Given the description of an element on the screen output the (x, y) to click on. 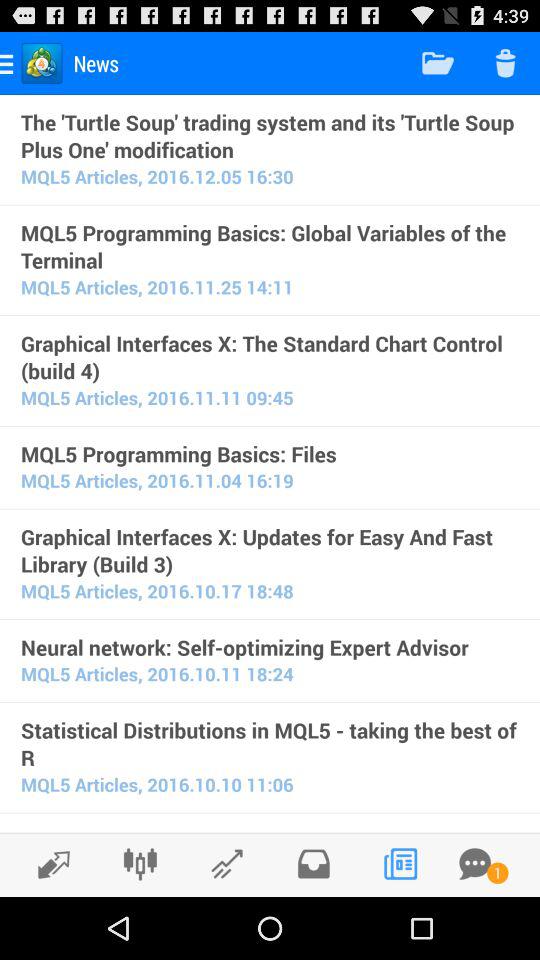
scroll to neural network self item (270, 647)
